Given the description of an element on the screen output the (x, y) to click on. 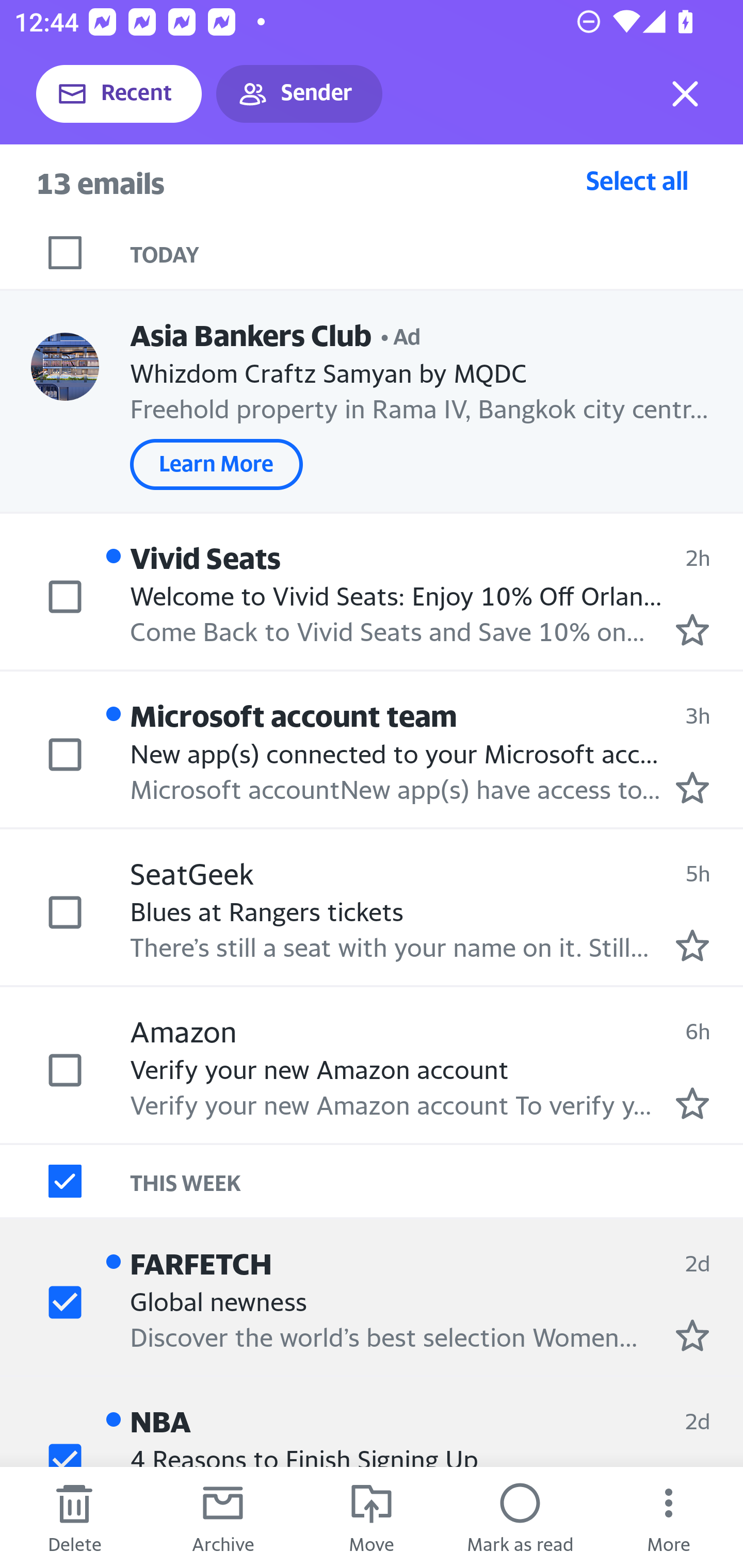
Sender (299, 93)
Exit selection mode (684, 93)
Select all (637, 180)
TODAY (436, 252)
Mark as starred. (692, 629)
Mark as starred. (692, 787)
Mark as starred. (692, 944)
Mark as starred. (692, 1103)
THIS WEEK (436, 1181)
Mark as starred. (692, 1335)
Delete (74, 1517)
Archive (222, 1517)
Move (371, 1517)
Mark as read (519, 1517)
More (668, 1517)
